Given the description of an element on the screen output the (x, y) to click on. 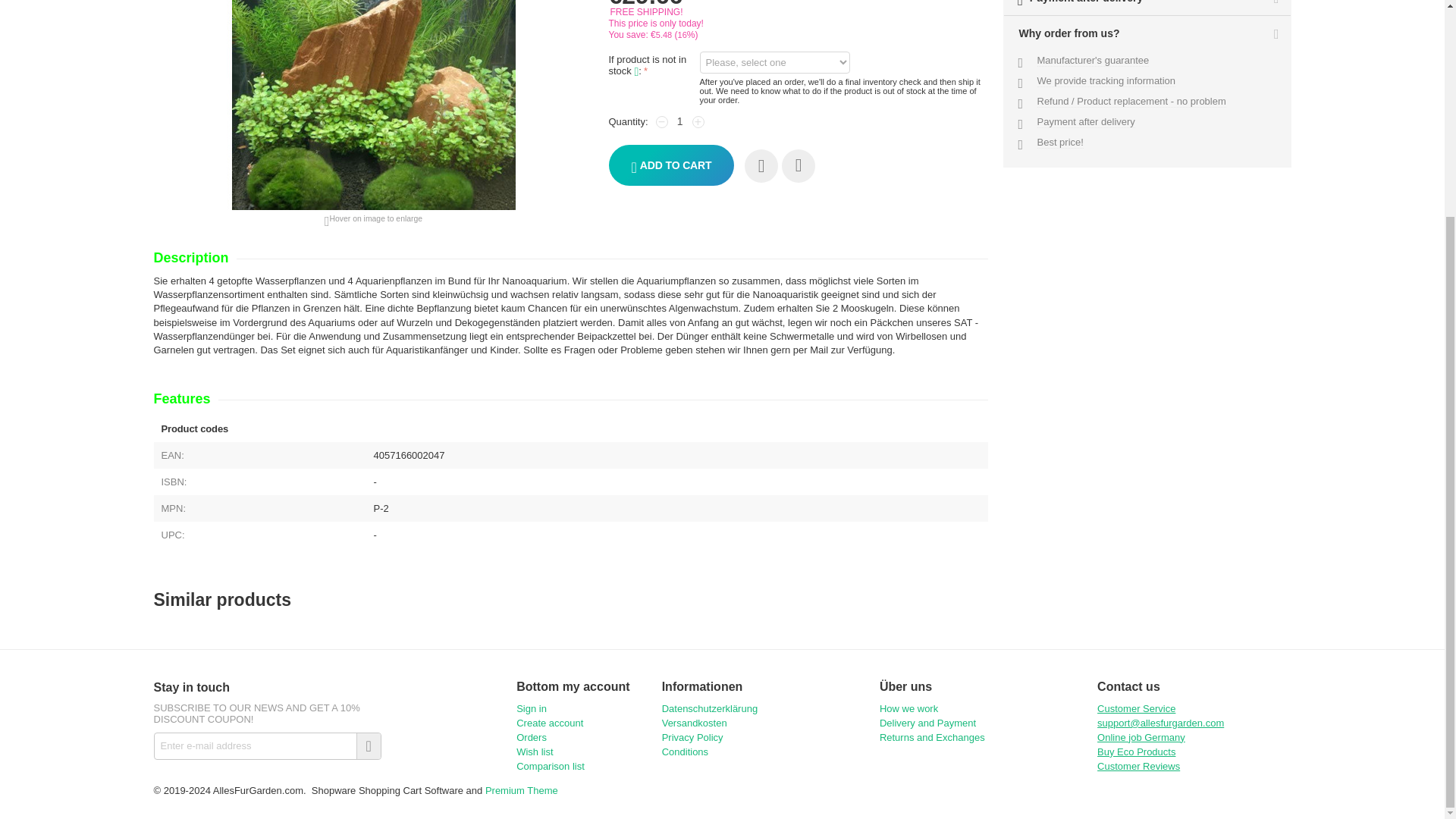
We provide you with best prices only! (1059, 142)
The guarantee for all products in our store is 12 months. (1093, 60)
Enter e-mail address (266, 746)
1 (680, 121)
Pay your order after delivery within 14 days timeframe. (1085, 121)
